Given the description of an element on the screen output the (x, y) to click on. 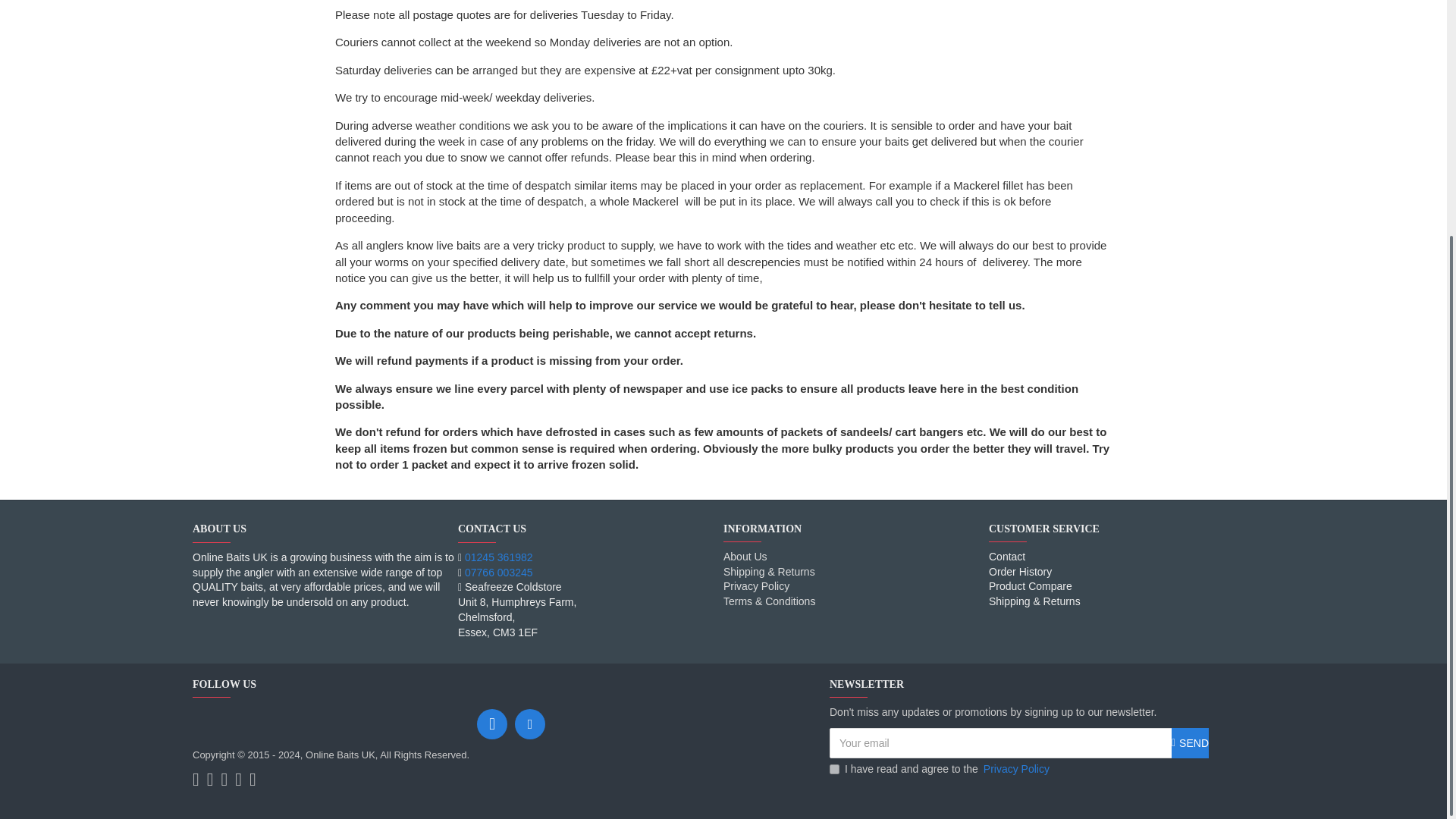
1 (834, 768)
